Given the description of an element on the screen output the (x, y) to click on. 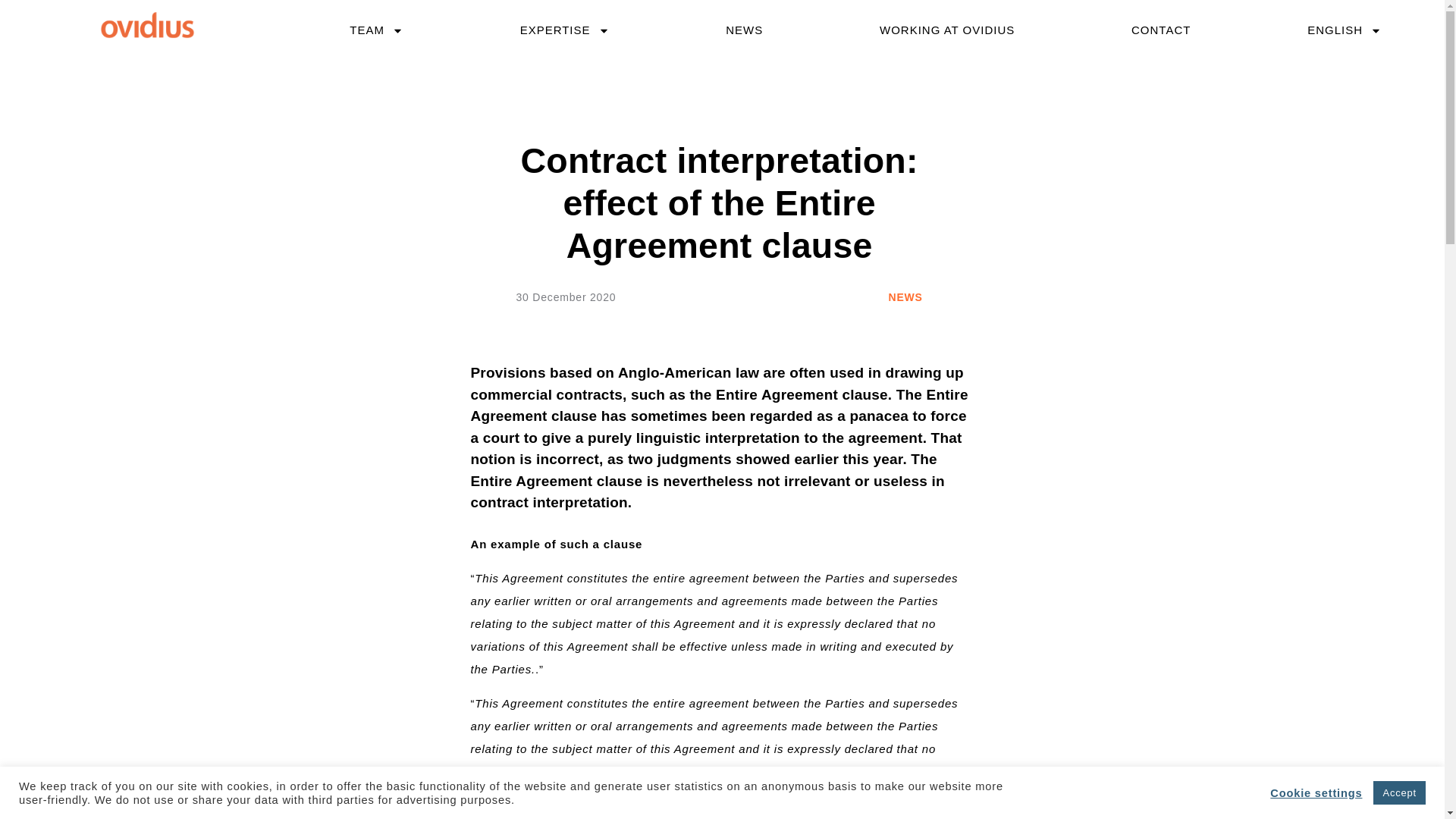
NEWS (743, 30)
ENGLISH (1344, 30)
WORKING AT OVIDIUS (947, 30)
English (1344, 30)
TEAM (376, 30)
EXPERTISE (564, 30)
CONTACT (1161, 30)
